Given the description of an element on the screen output the (x, y) to click on. 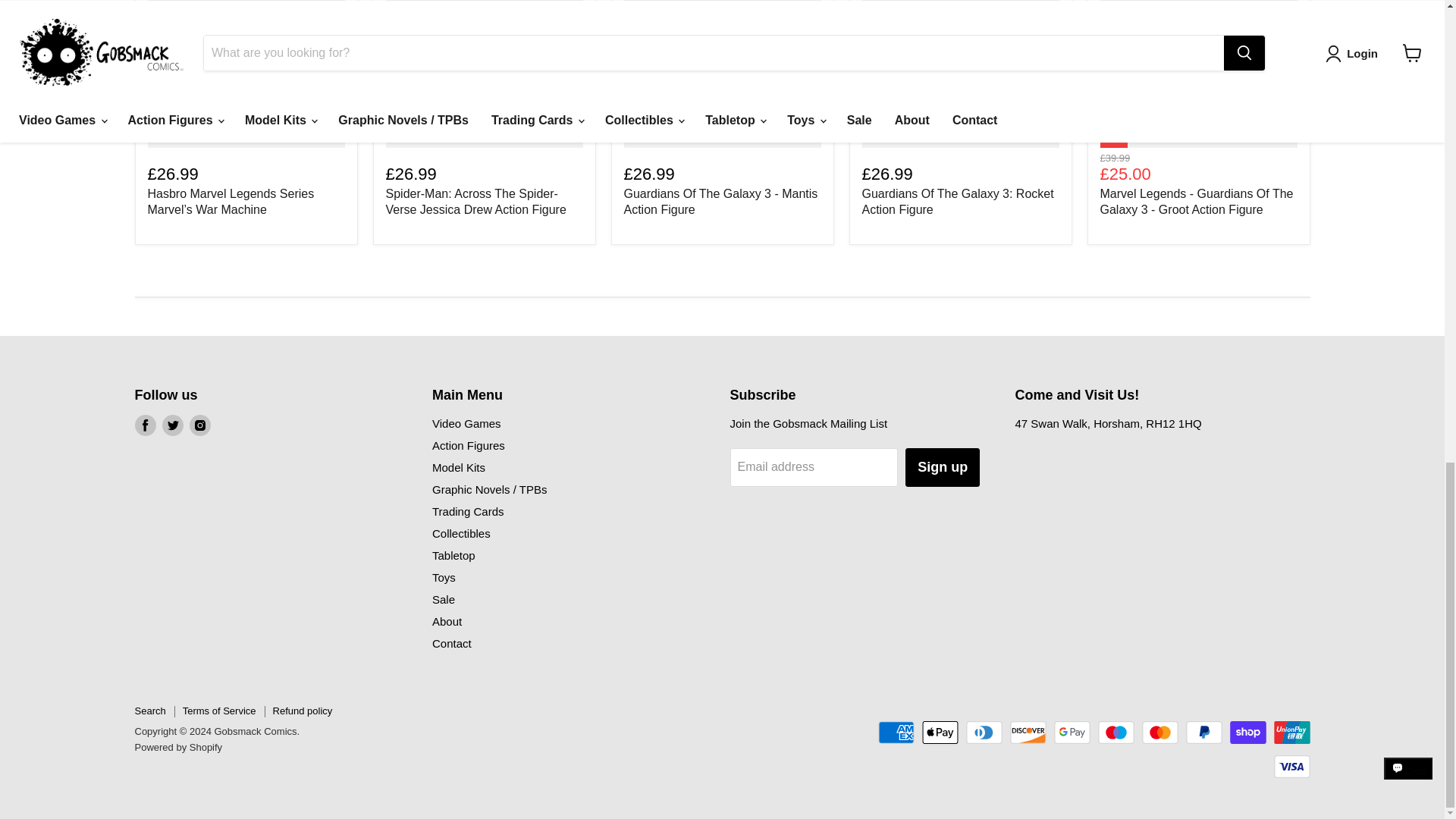
Instagram (200, 424)
Twitter (172, 424)
Facebook (145, 424)
